Given the description of an element on the screen output the (x, y) to click on. 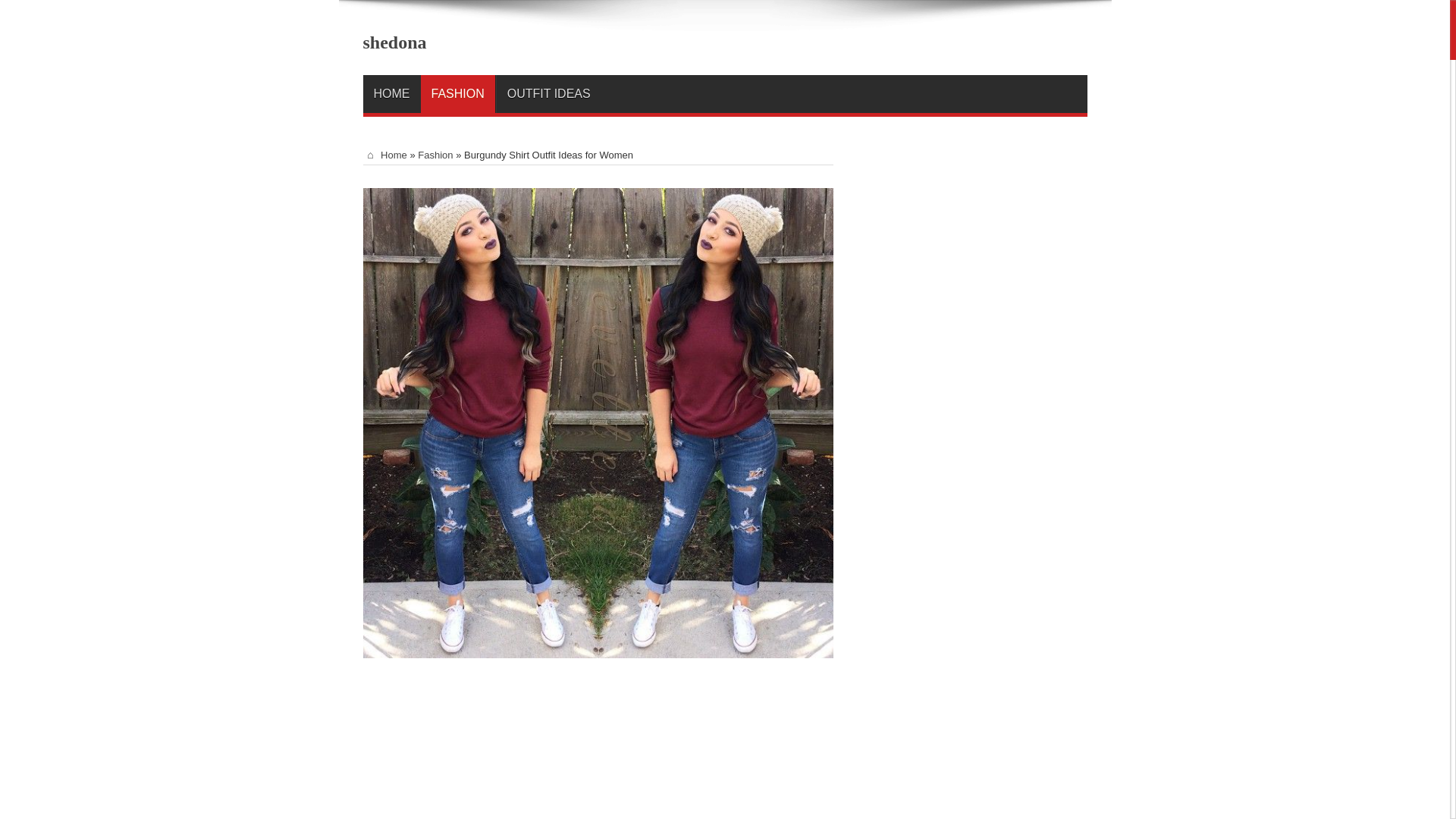
Advertisement (973, 381)
Advertisement (597, 745)
FASHION (457, 94)
Fashion (434, 154)
Home (384, 154)
HOME (391, 94)
shedona (394, 42)
OUTFIT IDEAS (548, 94)
